Given the description of an element on the screen output the (x, y) to click on. 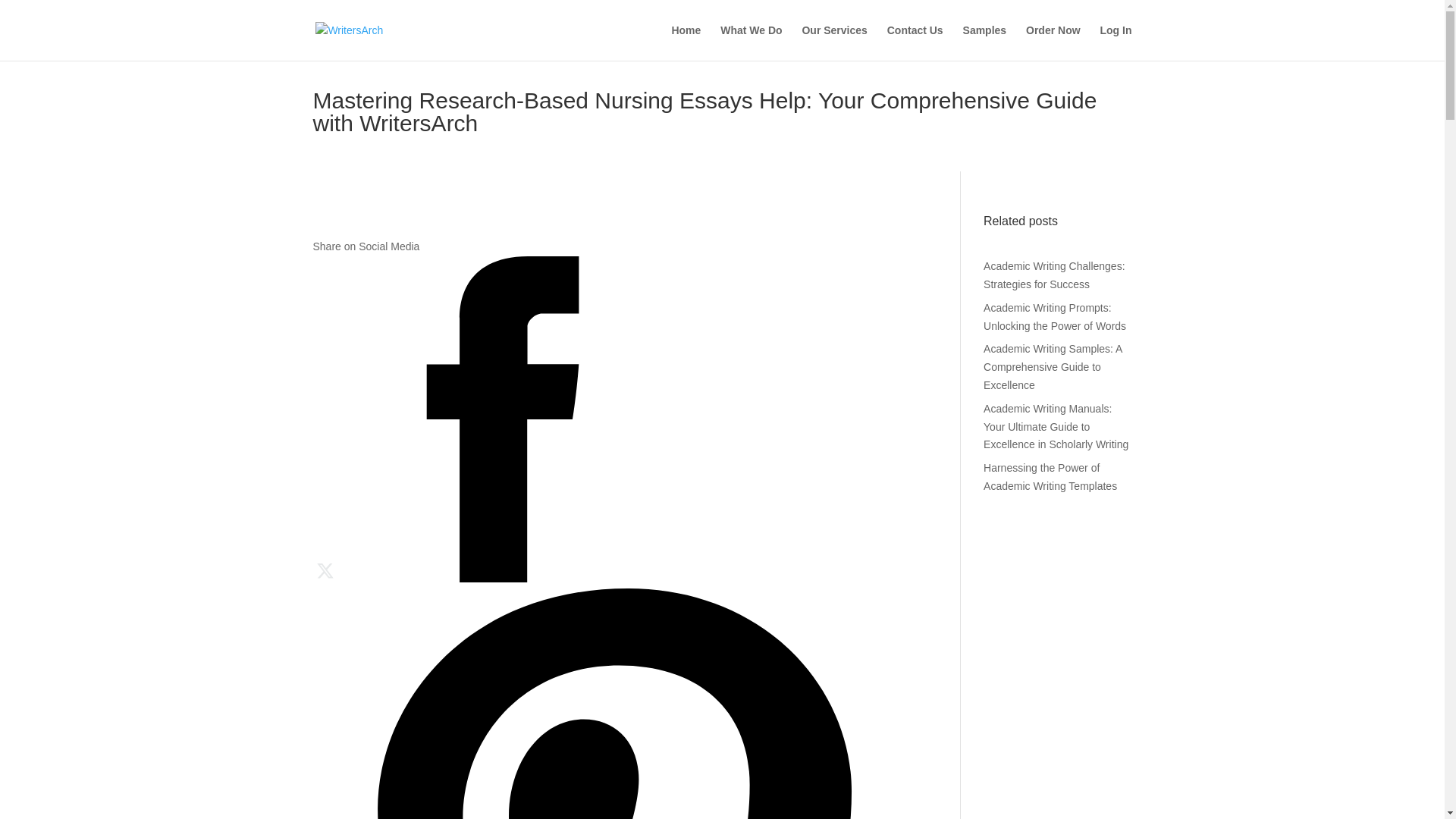
Academic Writing Prompts: Unlocking the Power of Words (1054, 317)
Log In (1115, 42)
Our Services (834, 42)
What We Do (750, 42)
Harnessing the Power of Academic Writing Templates (1050, 476)
Order Now (1053, 42)
Samples (984, 42)
Contact Us (914, 42)
Academic Writing Challenges: Strategies for Success (1054, 275)
